Given the description of an element on the screen output the (x, y) to click on. 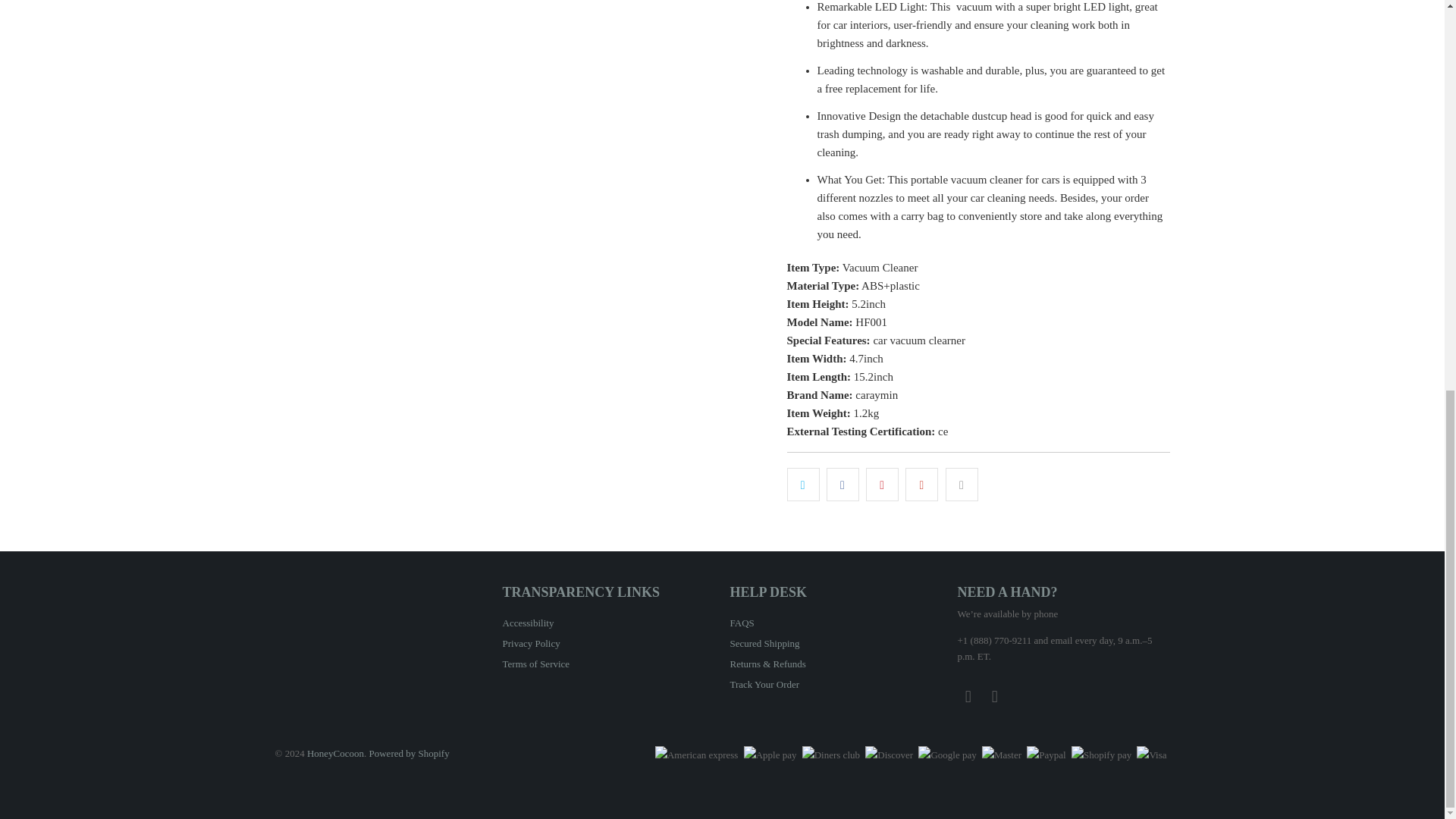
Email HoneyCocoon (995, 696)
Email this to a friend (961, 484)
Share this on Facebook (843, 484)
Share this on Twitter (803, 484)
HoneyCocoon on Facebook (967, 696)
Share this on Pinterest (882, 484)
